Given the description of an element on the screen output the (x, y) to click on. 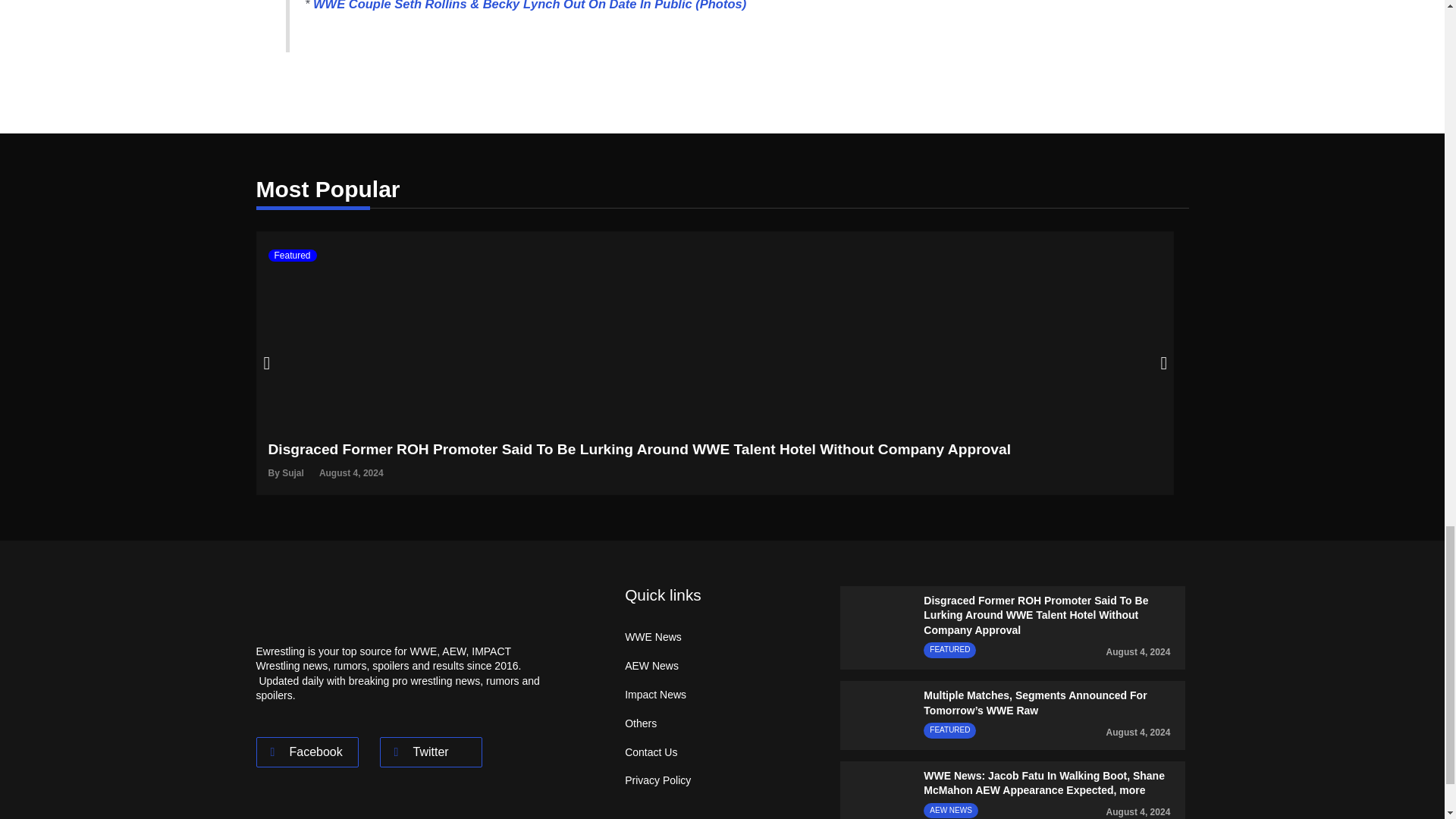
Posts by Sujal (292, 472)
